Given the description of an element on the screen output the (x, y) to click on. 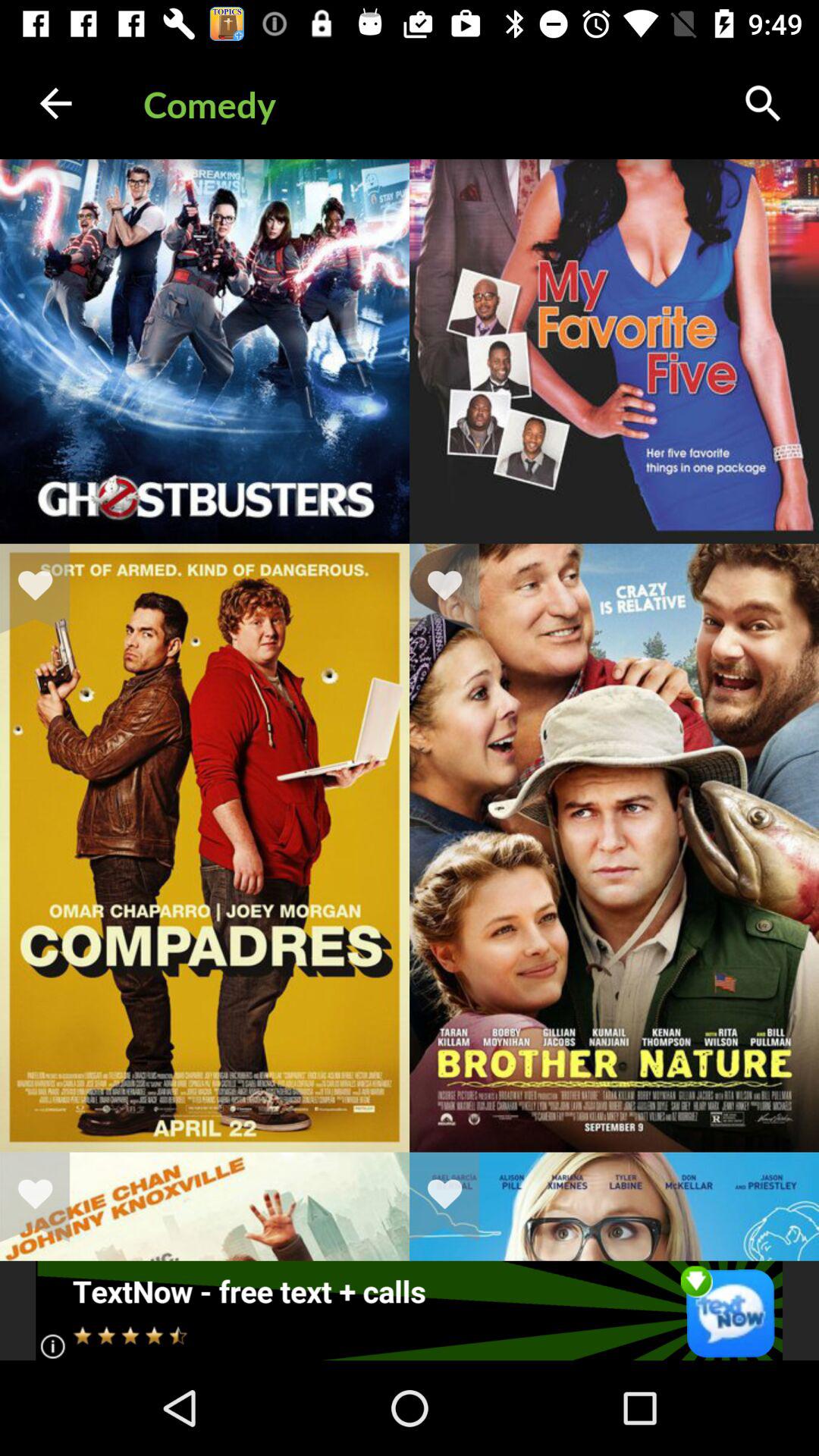
like (44, 588)
